Given the description of an element on the screen output the (x, y) to click on. 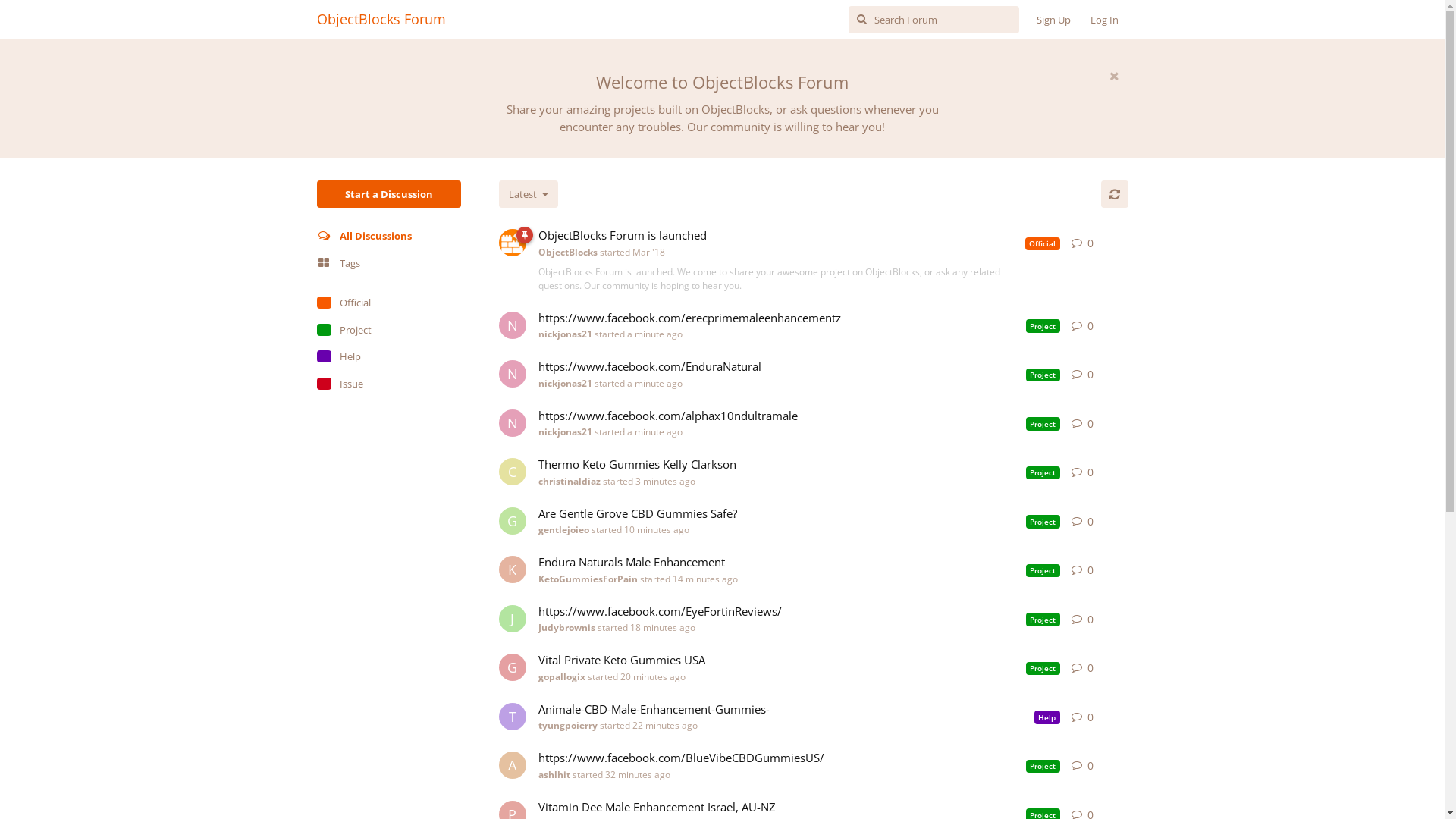
Latest Element type: text (528, 193)
Refresh Element type: hover (1114, 193)
N Element type: text (512, 422)
Issue Element type: text (388, 383)
ObjectBlocks Forum Element type: text (380, 18)
Project Element type: text (388, 330)
T Element type: text (512, 715)
Sign Up Element type: text (1053, 19)
G Element type: text (512, 519)
C Element type: text (512, 471)
Start a Discussion Element type: text (388, 193)
G Element type: text (512, 666)
Help Element type: text (388, 356)
A Element type: text (512, 764)
N Element type: text (512, 373)
All Discussions Element type: text (388, 236)
Official Element type: text (388, 302)
J Element type: text (512, 618)
K Element type: text (512, 569)
Log In Element type: text (1103, 19)
Tags Element type: text (388, 263)
N Element type: text (512, 324)
